Given the description of an element on the screen output the (x, y) to click on. 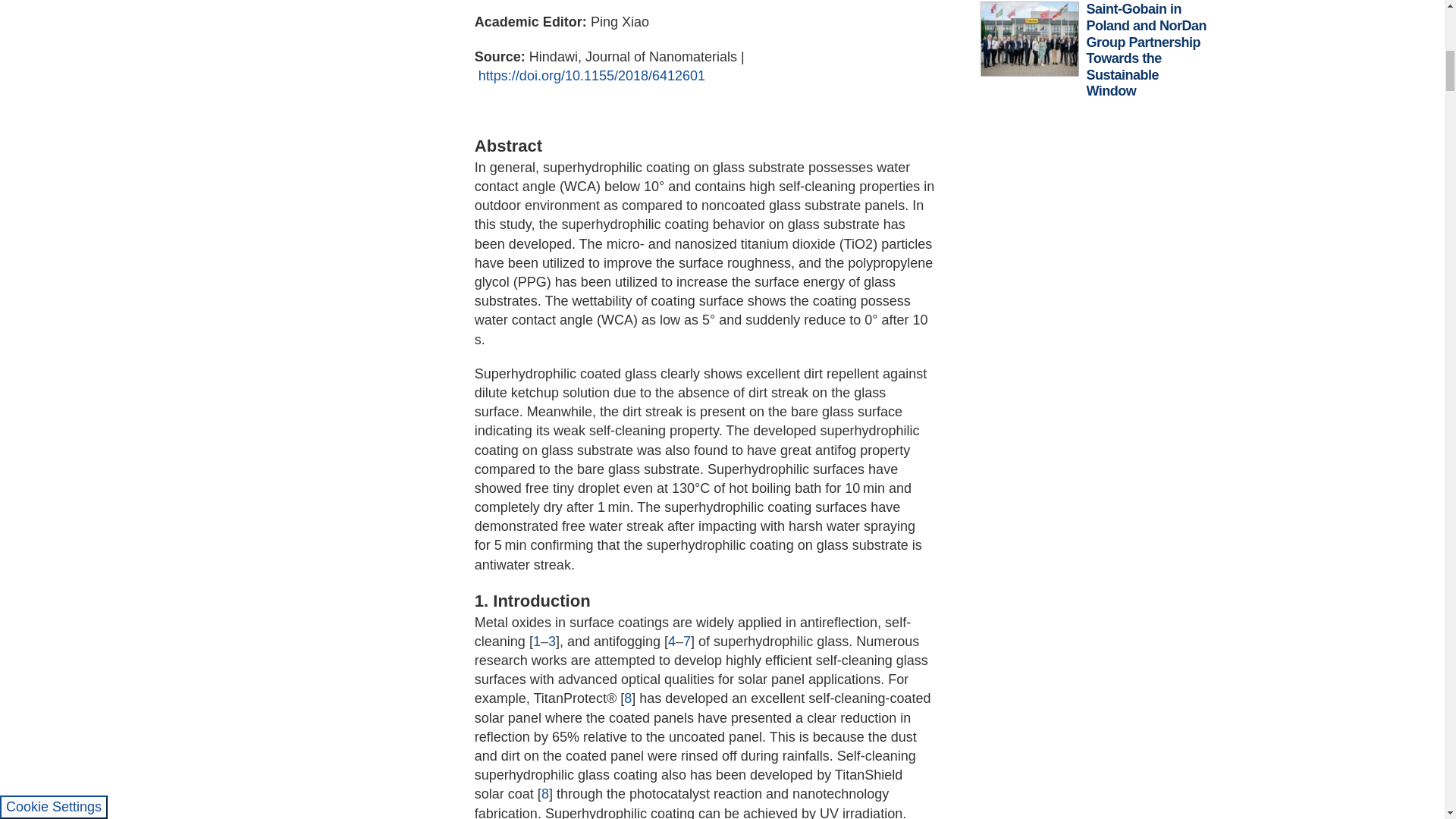
3rd party ad content (1093, 670)
3rd party ad content (1093, 451)
3rd party ad content (1093, 230)
3rd party ad content (1093, 807)
